Given the description of an element on the screen output the (x, y) to click on. 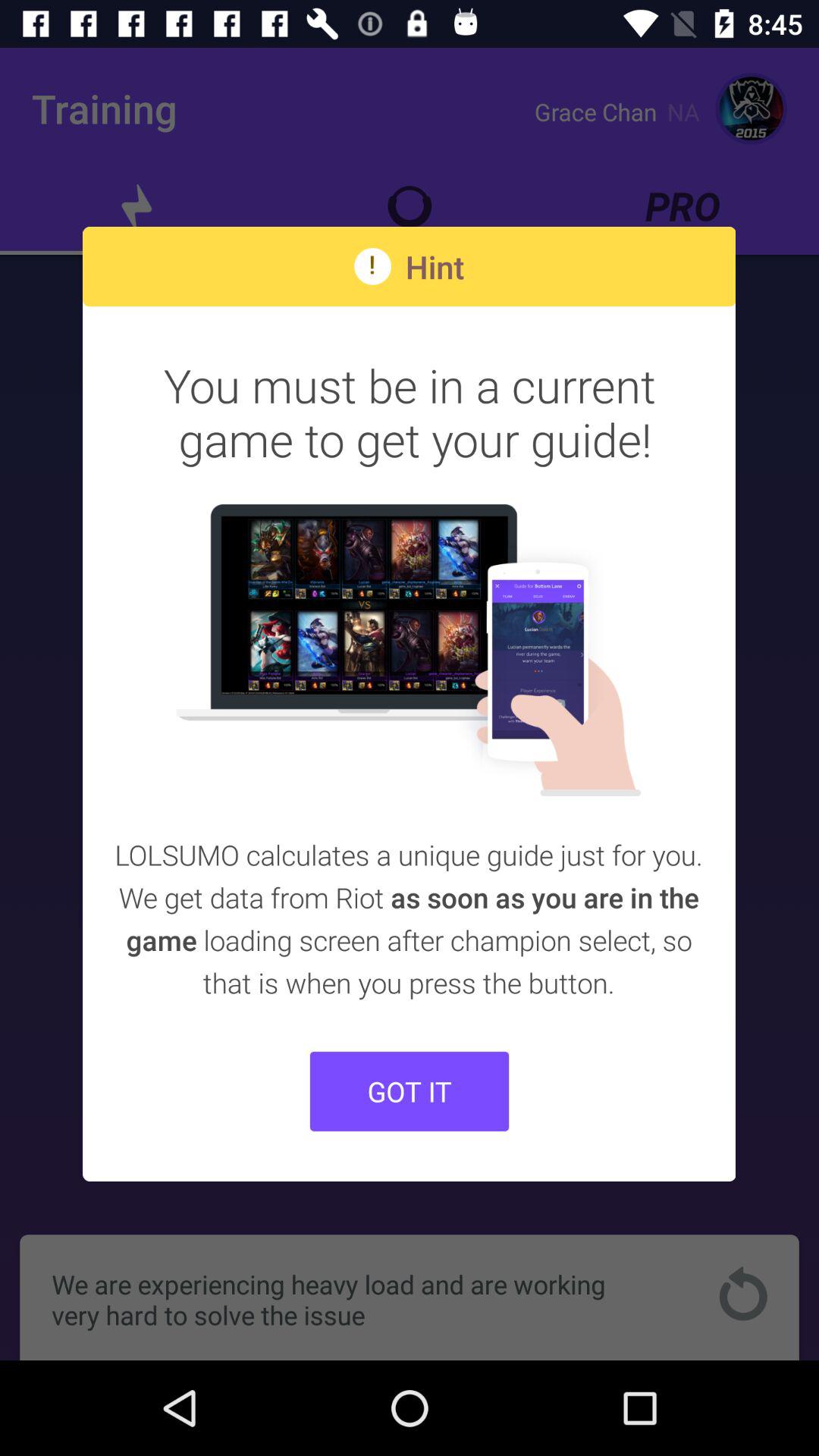
launch icon below the lolsumo calculates a icon (409, 1091)
